Given the description of an element on the screen output the (x, y) to click on. 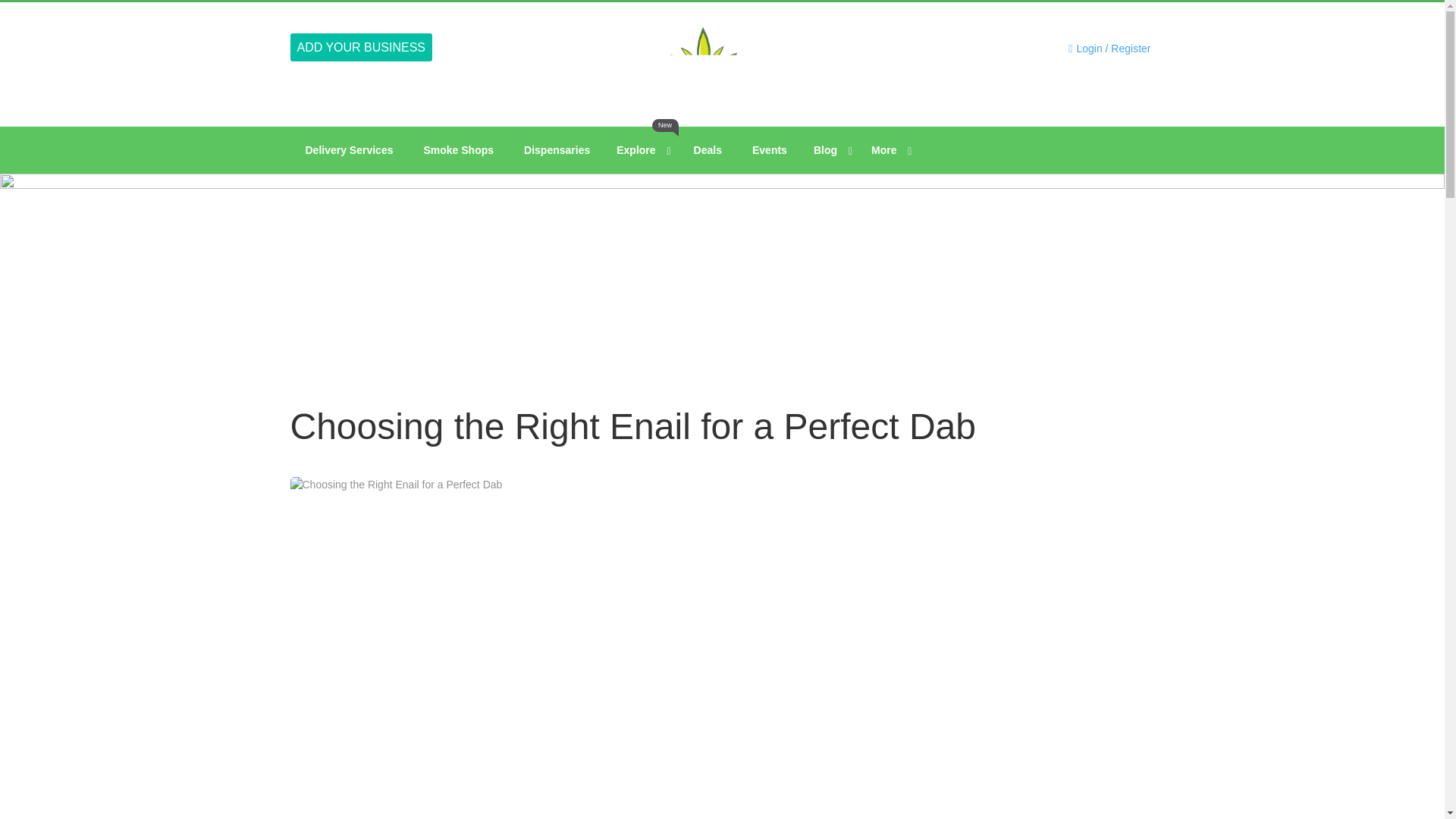
Smoke Shops (457, 149)
More (889, 149)
Events (769, 149)
Deals (641, 149)
ADD YOUR BUSINESS (707, 149)
Delivery Services (360, 47)
Dispensaries (348, 149)
